Given the description of an element on the screen output the (x, y) to click on. 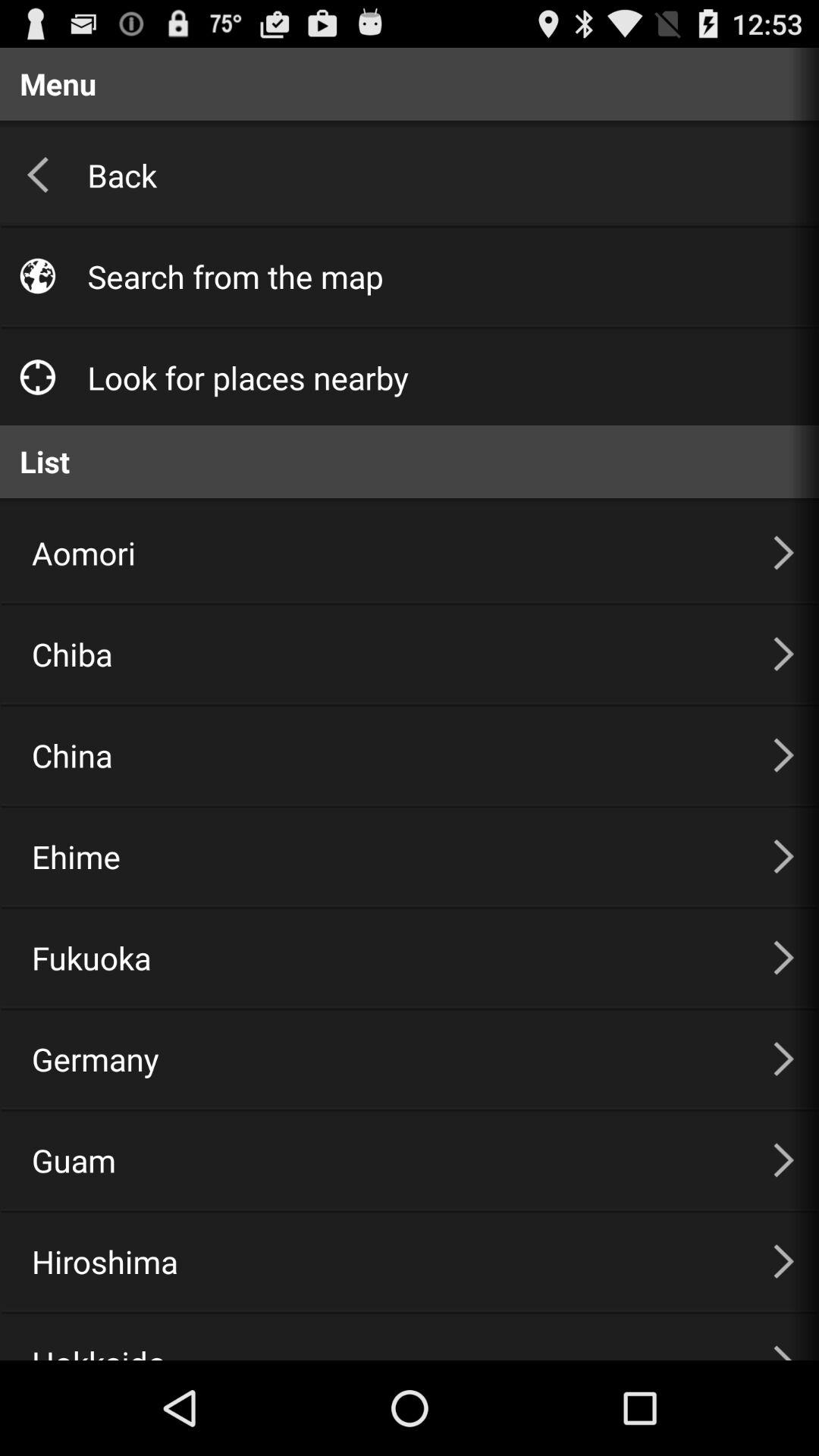
choose item above the china item (384, 653)
